Given the description of an element on the screen output the (x, y) to click on. 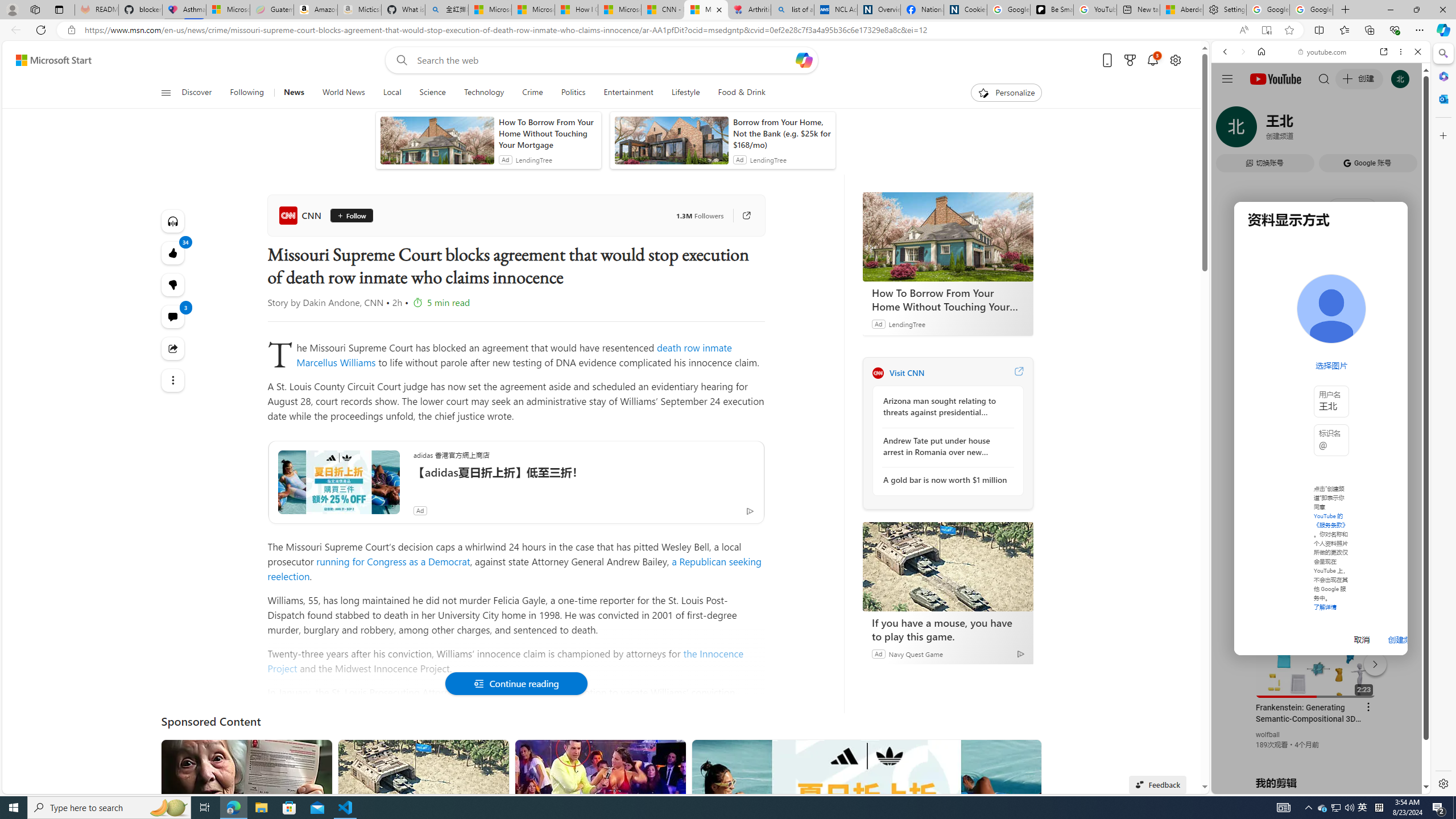
Borrow from Your Home, Not the Bank (e.g. $25k for $168/mo) (781, 133)
US[ju] (1249, 785)
Aberdeen, Hong Kong SAR hourly forecast | Microsoft Weather (1181, 9)
Go to publisher's site (740, 215)
